Given the description of an element on the screen output the (x, y) to click on. 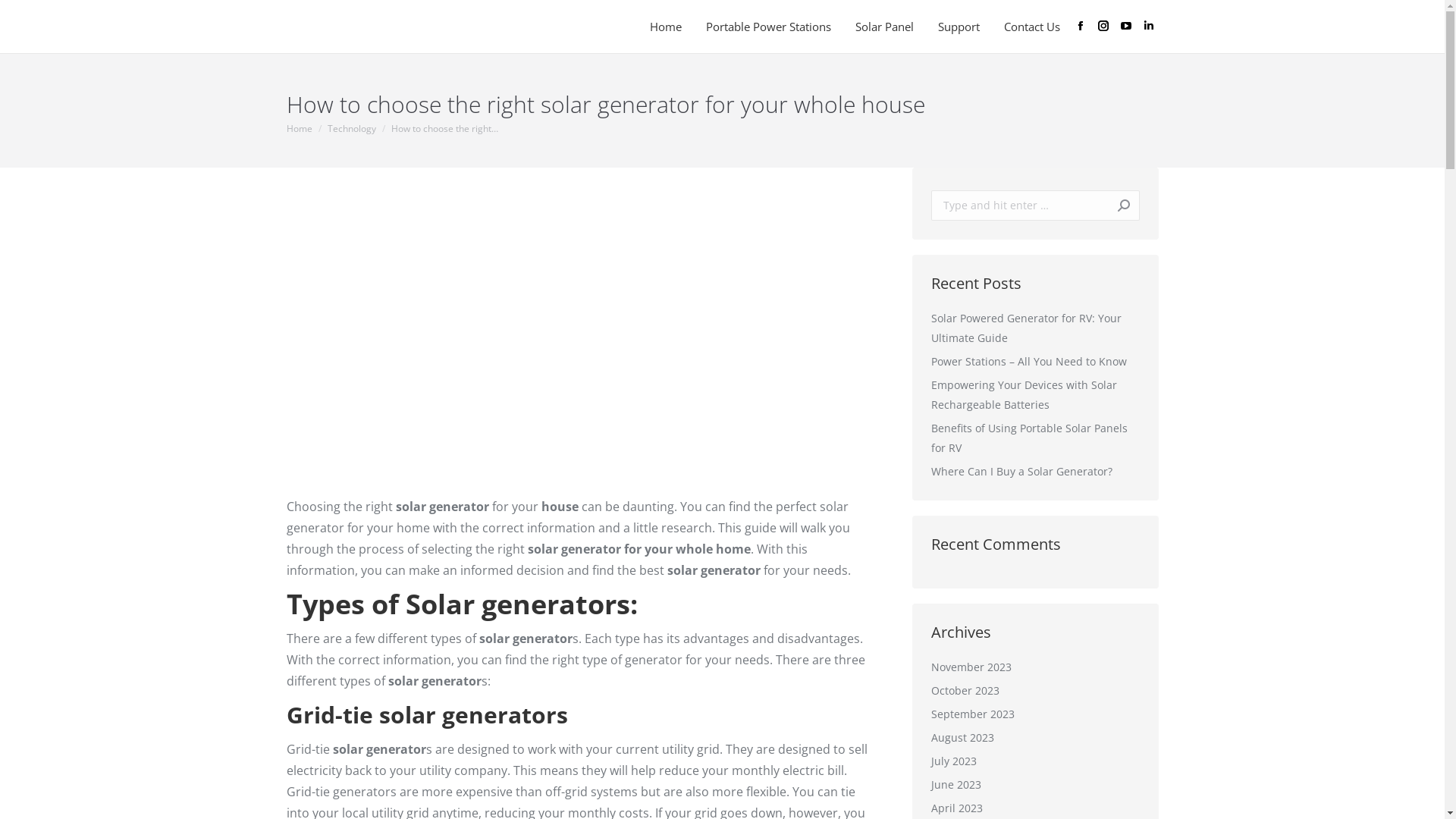
September 2023 Element type: text (972, 714)
Home Element type: text (669, 25)
Solar Powered Generator for RV: Your Ultimate Guide Element type: text (1035, 328)
Empowering Your Devices with Solar Rechargeable Batteries Element type: text (1035, 394)
Facebook page opens in new window Element type: text (1080, 25)
April 2023 Element type: text (956, 808)
Technology Element type: text (351, 128)
Go! Element type: text (1116, 205)
July 2023 Element type: text (953, 761)
Home Element type: text (299, 128)
August 2023 Element type: text (962, 737)
Contact Us Element type: text (1036, 25)
November 2023 Element type: text (971, 667)
Benefits of Using Portable Solar Panels for RV Element type: text (1035, 438)
Where Can I Buy a Solar Generator? Element type: text (1021, 471)
June 2023 Element type: text (956, 784)
Instagram page opens in new window Element type: text (1103, 25)
Linkedin page opens in new window Element type: text (1148, 25)
YouTube page opens in new window Element type: text (1125, 25)
Solar Panel Element type: text (888, 25)
October 2023 Element type: text (965, 690)
Support Element type: text (962, 25)
Portable Power Stations Element type: text (772, 25)
